Given the description of an element on the screen output the (x, y) to click on. 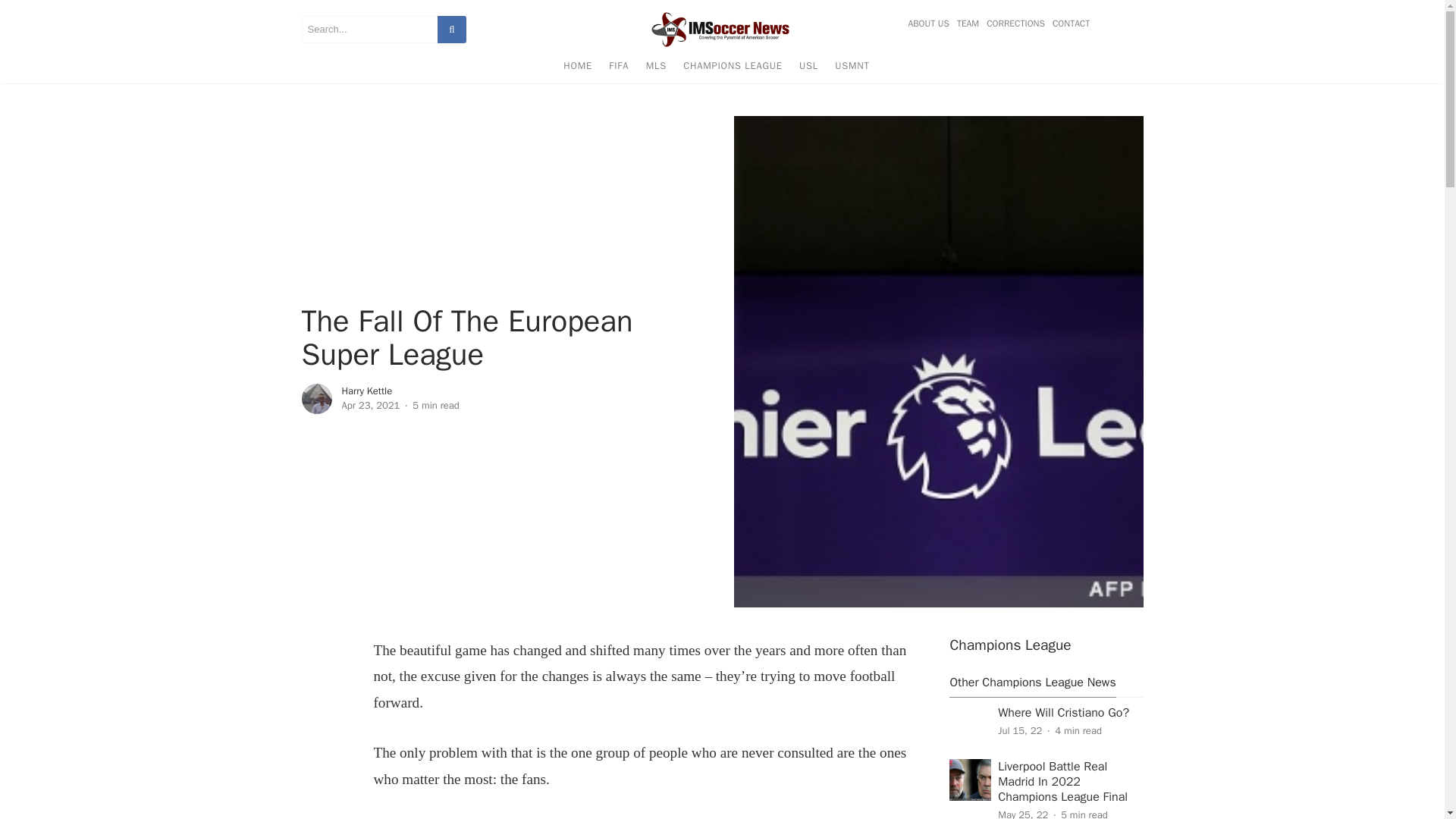
CORRECTIONS (1015, 23)
TEAM (967, 23)
Search for: (369, 29)
CHAMPIONS LEAGUE (732, 68)
MLS (656, 68)
CONTACT (1068, 23)
USL (808, 68)
Where Will Cristiano Go? (1063, 712)
Liverpool Battle Real Madrid In 2022 Champions League Final (1061, 781)
FIFA (618, 68)
HOME (576, 68)
Harry Kettle (365, 390)
USMNT (852, 68)
ABOUT US (929, 23)
